Given the description of an element on the screen output the (x, y) to click on. 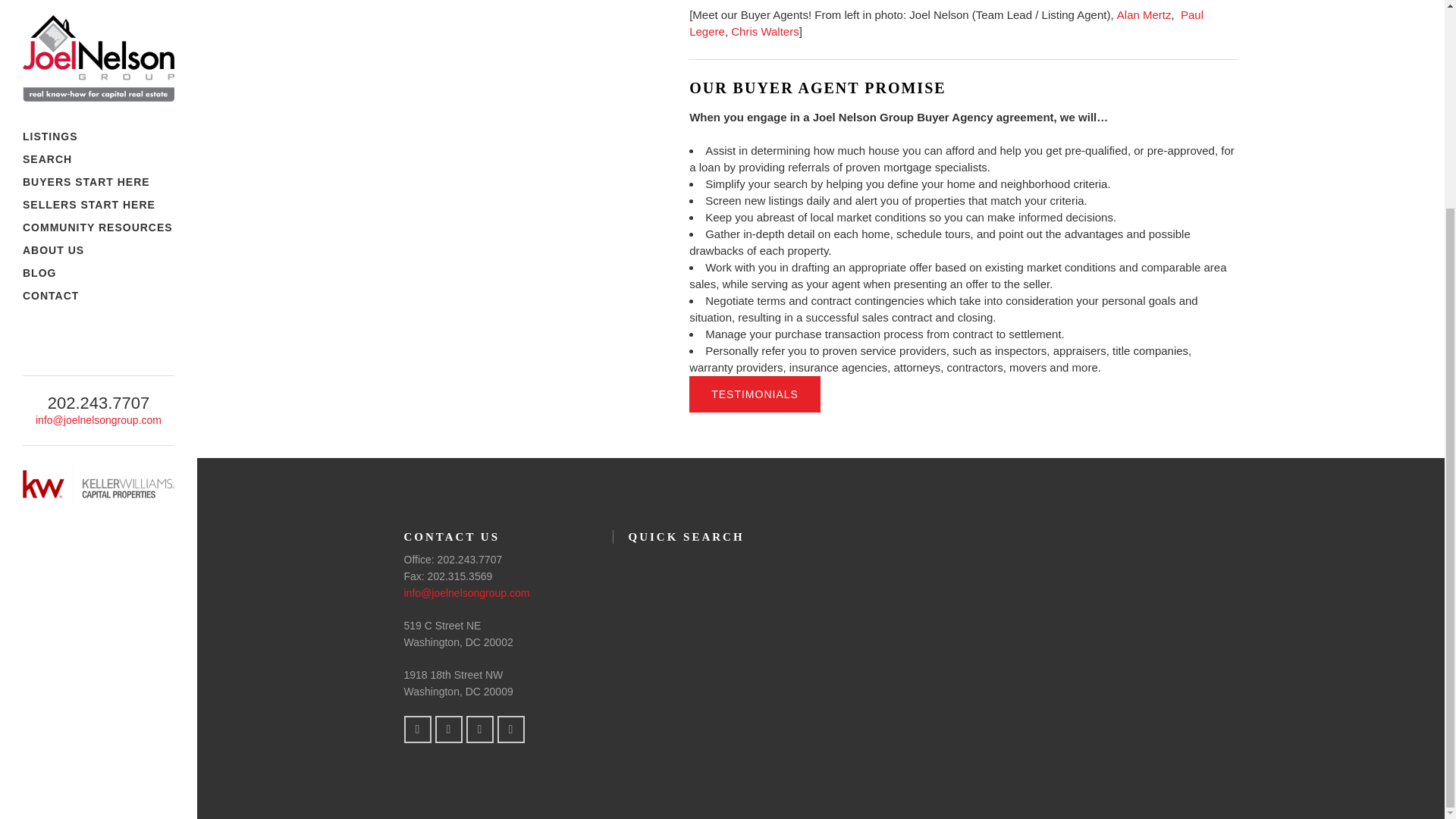
CONTACT (98, 25)
BLOG (98, 7)
